Given the description of an element on the screen output the (x, y) to click on. 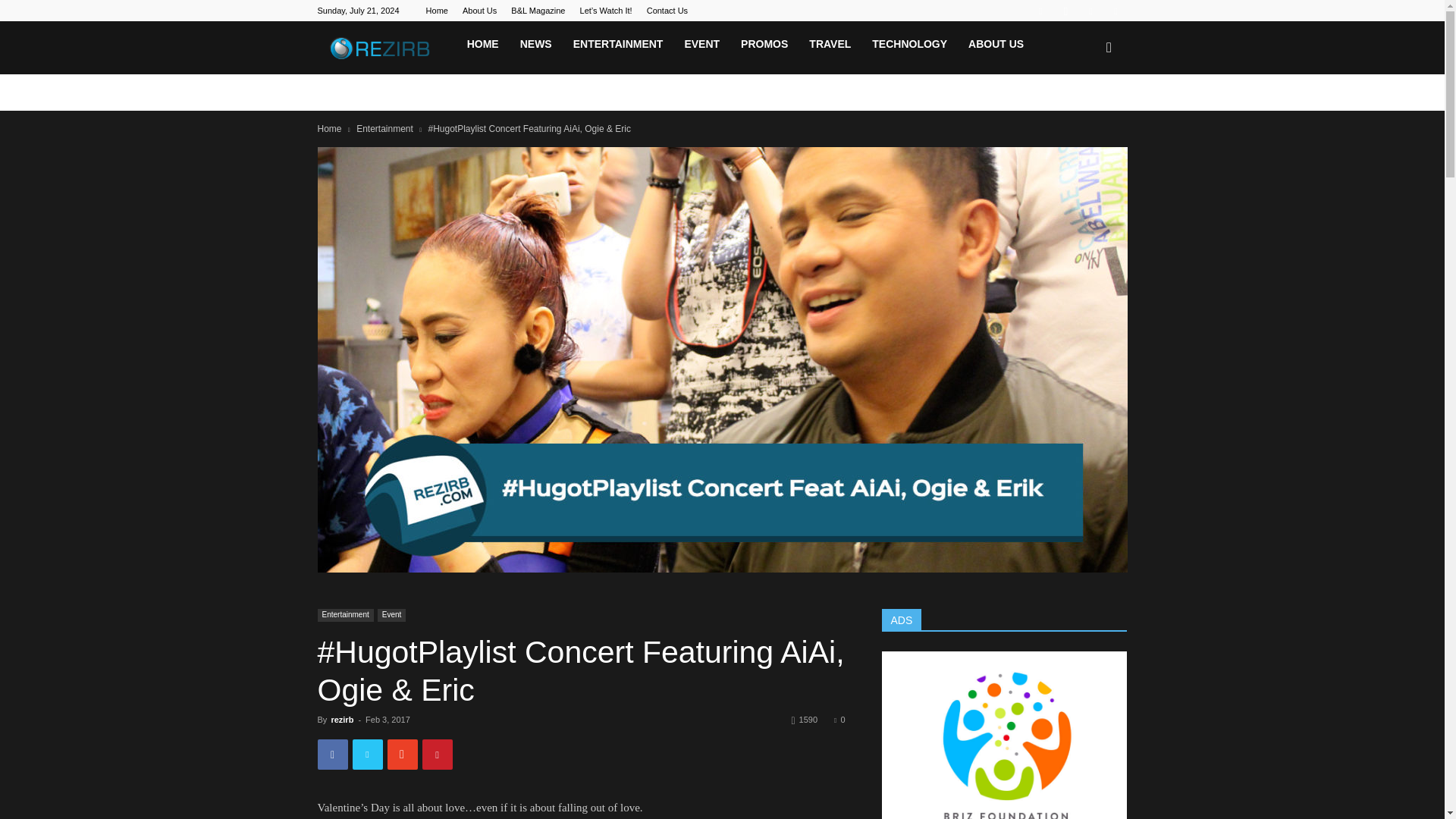
Twitter (1090, 10)
Search (1083, 117)
Contact Us (666, 10)
TRAVEL (829, 43)
About Us (479, 10)
TECHNOLOGY (909, 43)
Facebook (1040, 10)
PROMOS (763, 43)
ENTERTAINMENT (618, 43)
Youtube (1114, 10)
Home (328, 128)
Instagram (1065, 10)
Entertainment (384, 128)
EVENT (701, 43)
